Given the description of an element on the screen output the (x, y) to click on. 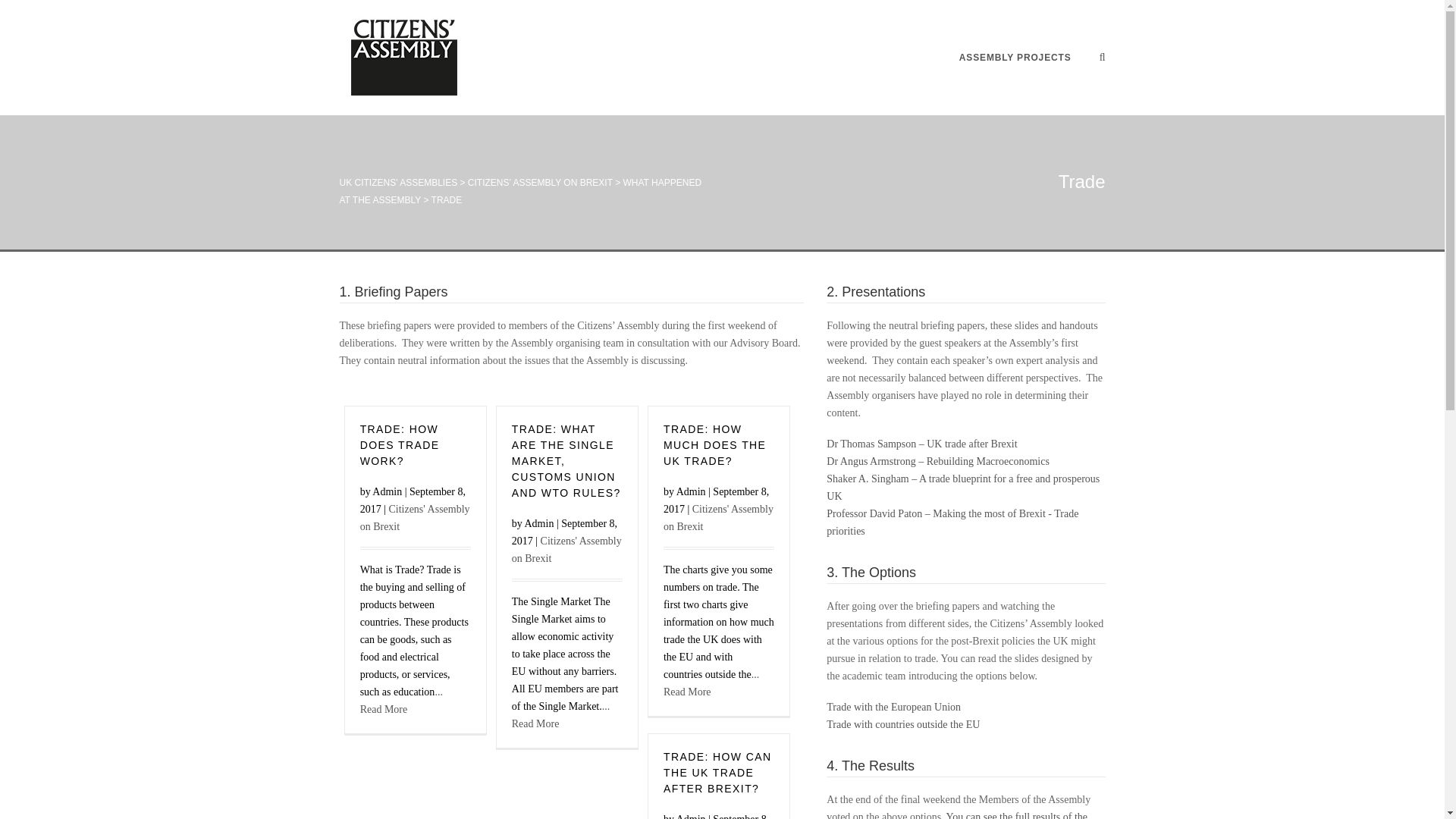
Go to What happened at the Assembly. (520, 191)
Citizens' Assembly on Brexit (718, 517)
TRADE: HOW DOES TRADE WORK? (399, 444)
Read More (535, 723)
WHAT HAPPENED AT THE ASSEMBLY (520, 191)
UK CITIZENS' ASSEMBLIES (398, 182)
UK Citizens' Assemblies (453, 57)
Go to UK Citizens' Assemblies. (398, 182)
TRADE: HOW CAN THE UK TRADE AFTER BREXIT? (717, 772)
